Given the description of an element on the screen output the (x, y) to click on. 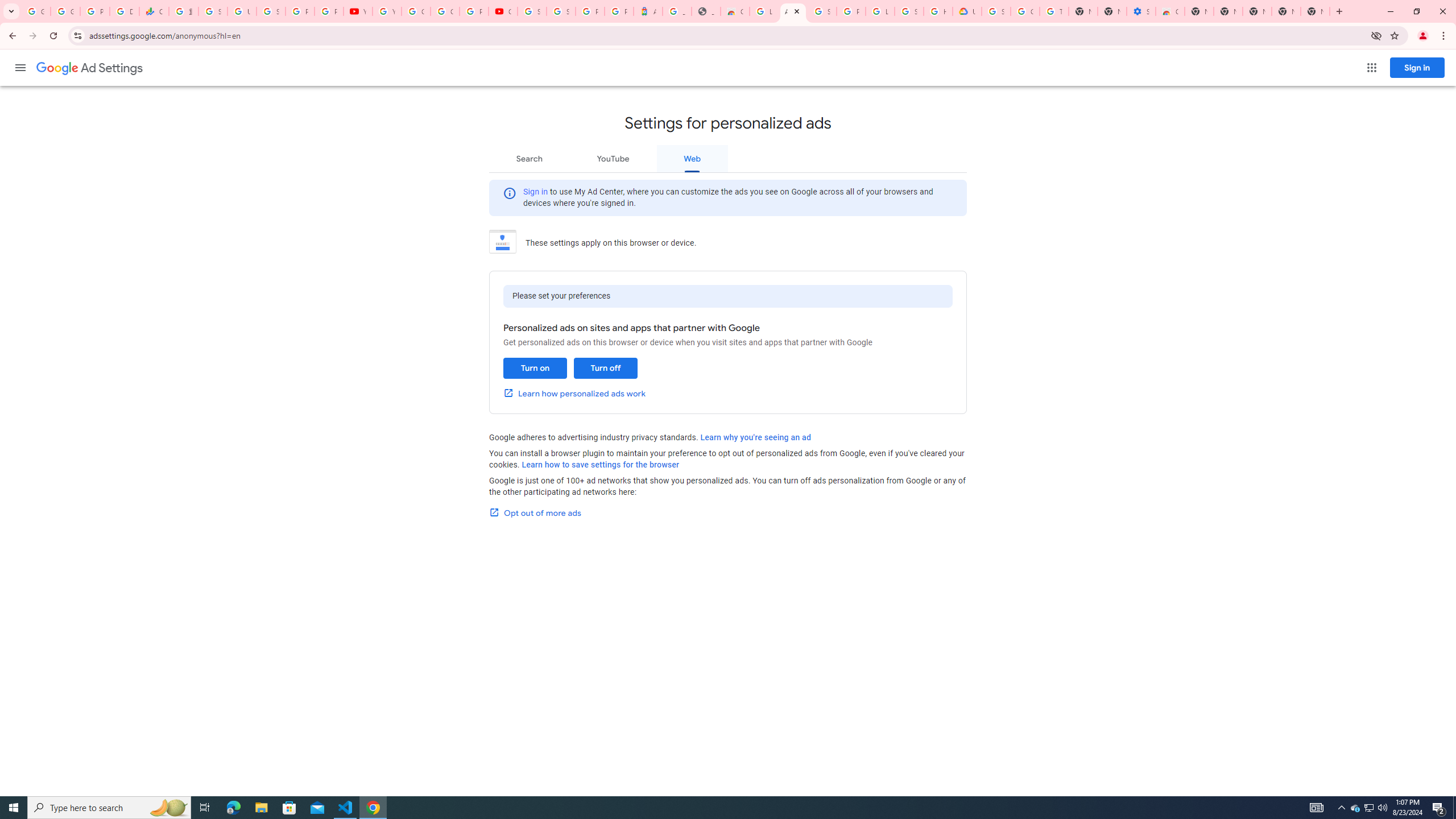
Sign in - Google Accounts (531, 11)
Privacy Checkup (327, 11)
Sign in (535, 191)
Turn cookies on or off - Computer - Google Account Help (1054, 11)
Content Creator Programs & Opportunities - YouTube Creators (502, 11)
New Tab (1198, 11)
Create your Google Account (444, 11)
